Given the description of an element on the screen output the (x, y) to click on. 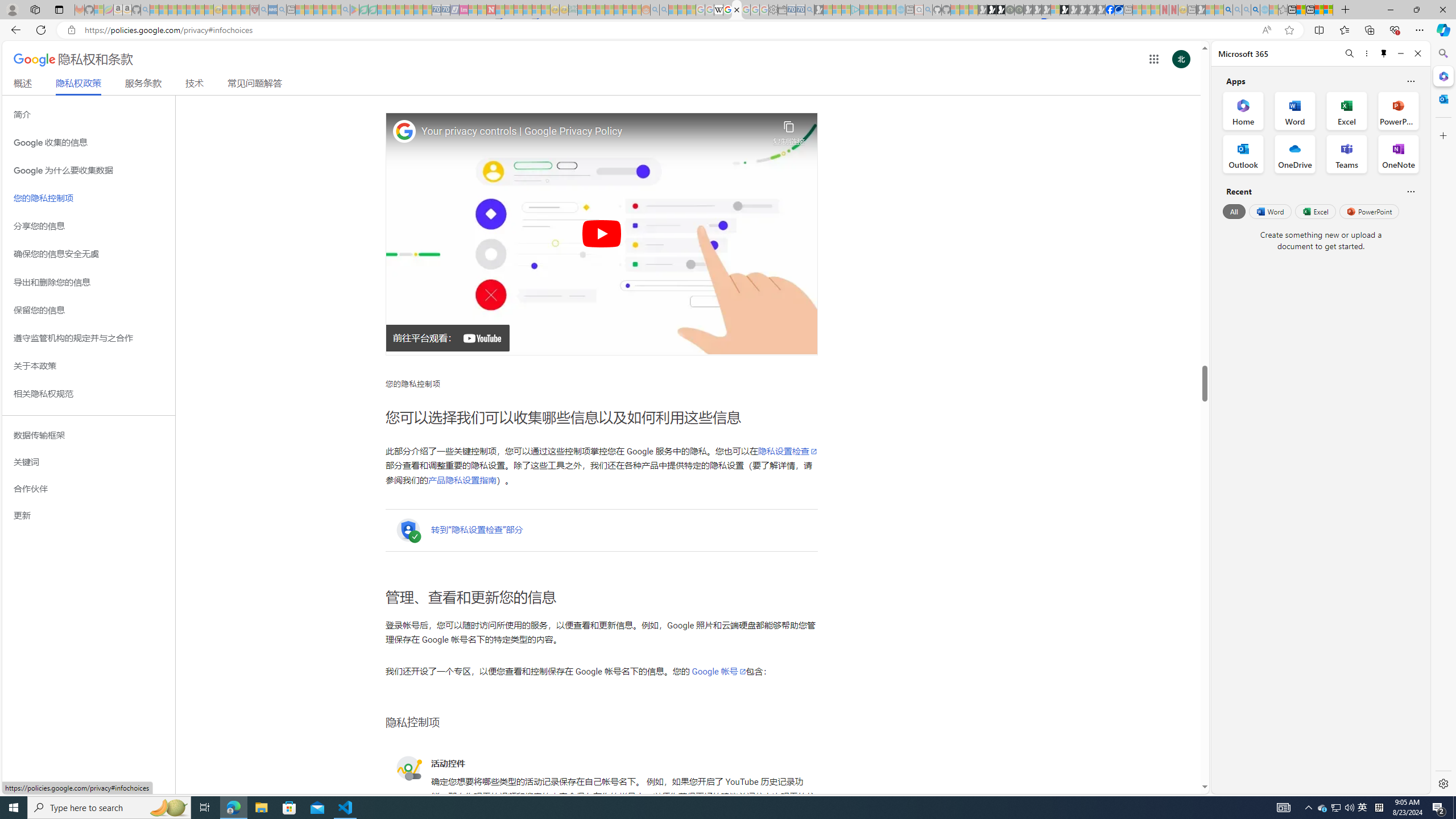
Target page - Wikipedia (718, 9)
